Given the description of an element on the screen output the (x, y) to click on. 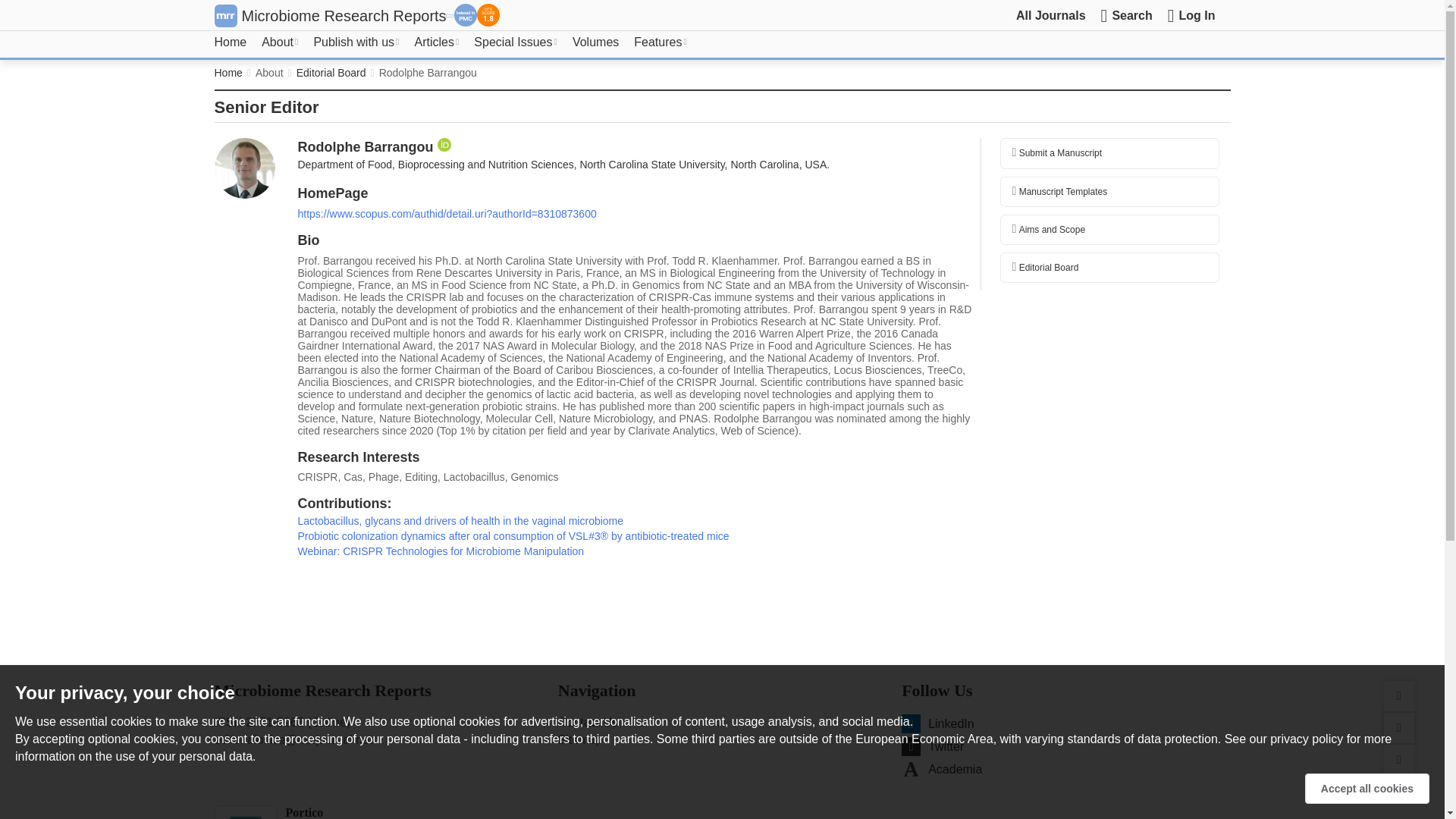
Microbiome Research Reports (343, 15)
All Journals (1051, 15)
Log In (1191, 15)
Volumes (595, 42)
Home (229, 42)
